Given the description of an element on the screen output the (x, y) to click on. 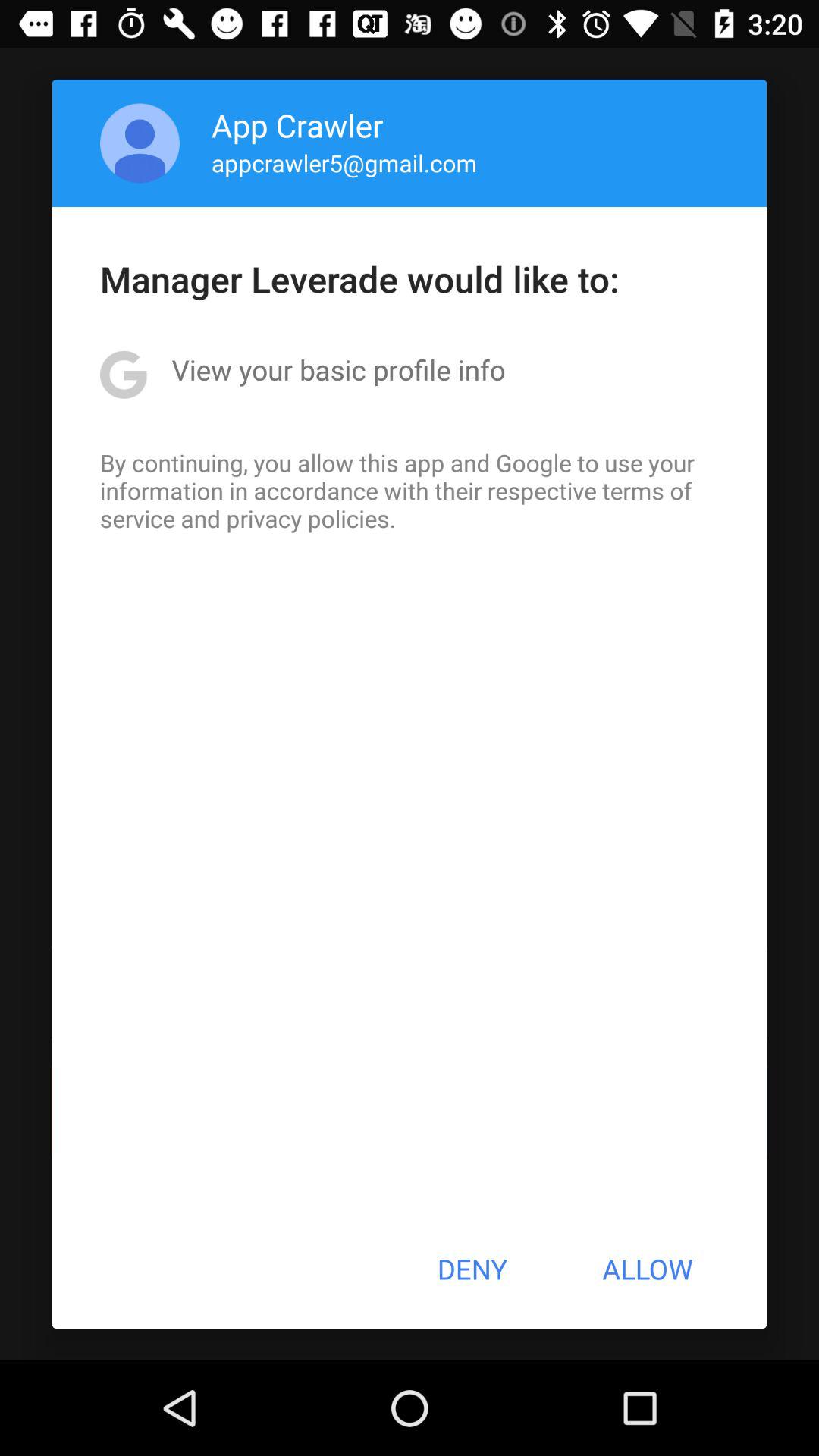
open item above manager leverade would item (139, 143)
